Given the description of an element on the screen output the (x, y) to click on. 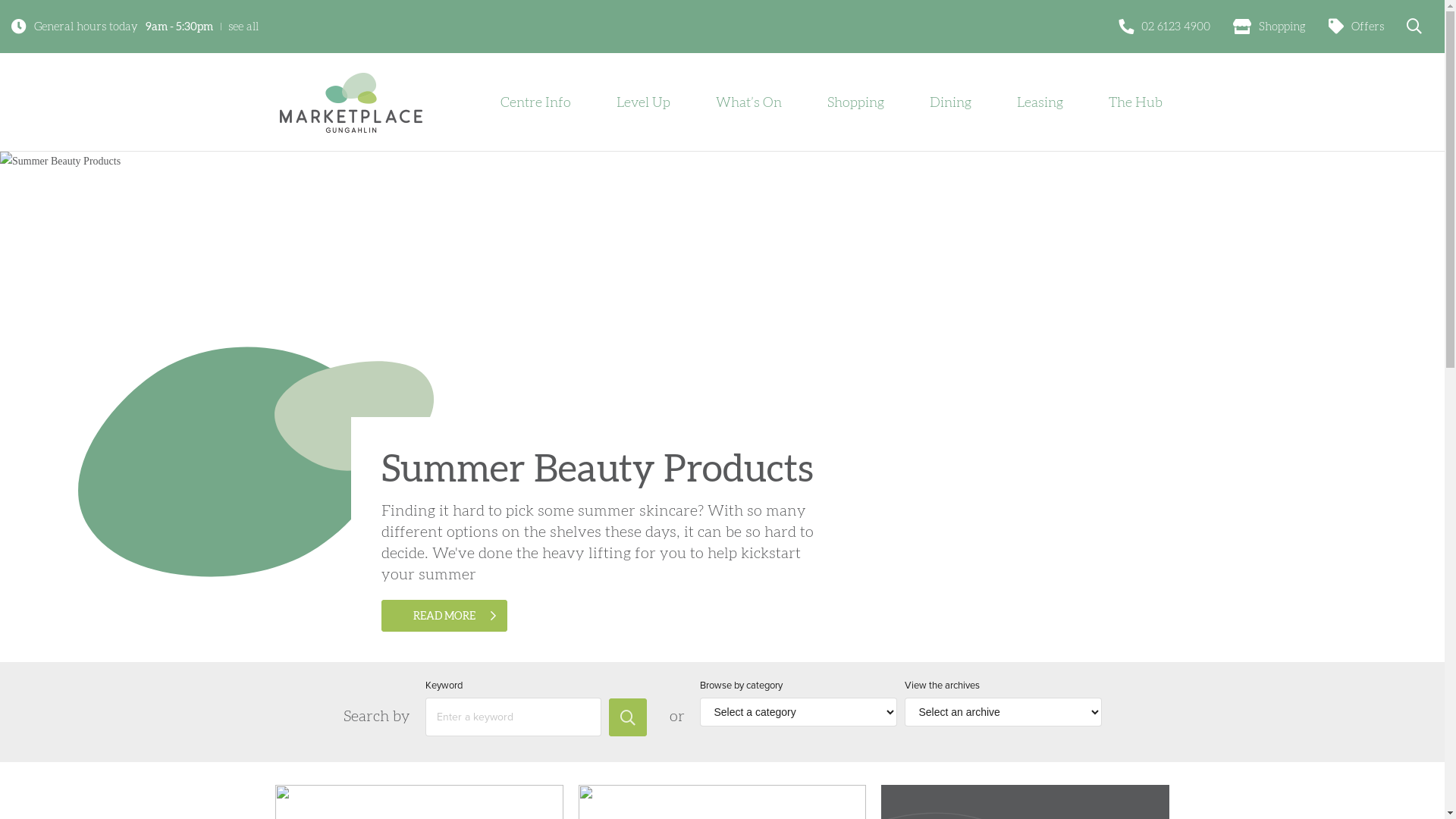
Level Up Element type: text (642, 101)
Dining Element type: text (950, 101)
see all Element type: text (243, 26)
Leasing Element type: text (1039, 101)
Shopping Element type: text (854, 101)
Shopping Element type: text (1269, 26)
Centre Info Element type: text (535, 101)
READ MORE Element type: text (443, 615)
The Hub Element type: text (1135, 101)
Offers Element type: text (1355, 26)
02 6123 4900 Element type: text (1164, 26)
